Given the description of an element on the screen output the (x, y) to click on. 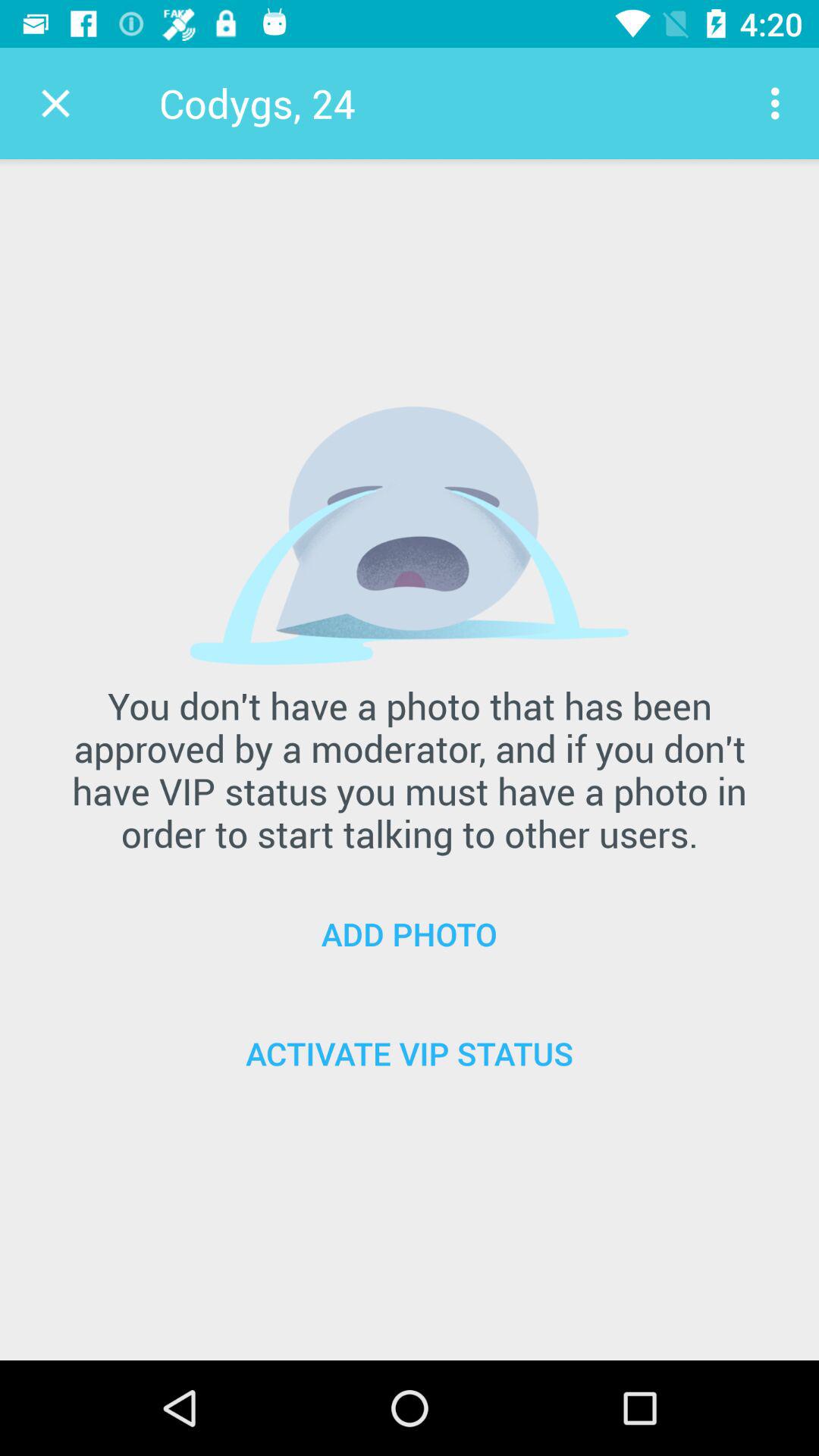
click item to the right of the codygs, 24 (779, 103)
